Given the description of an element on the screen output the (x, y) to click on. 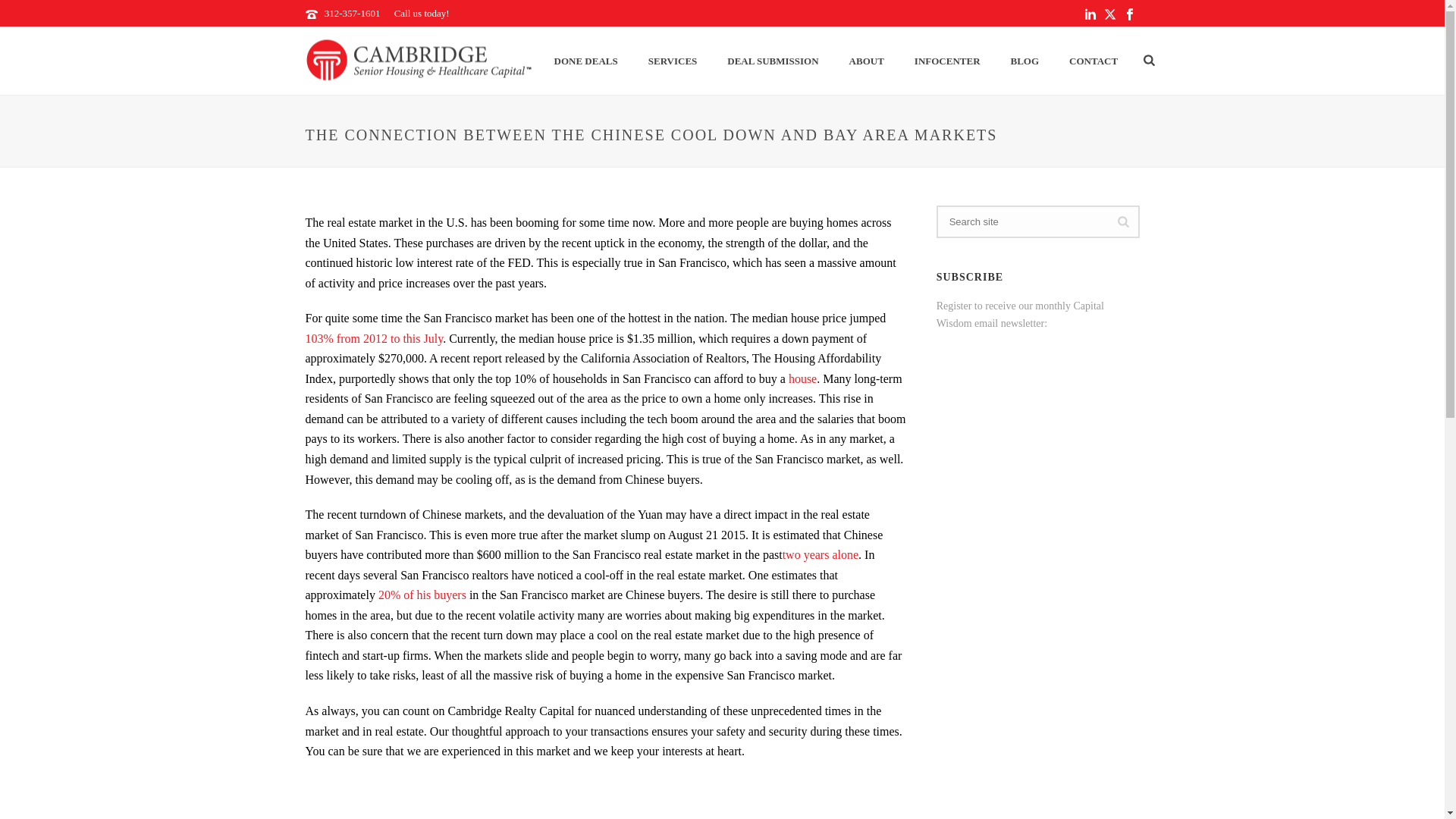
INFOCENTER (947, 61)
DEAL SUBMISSION (771, 61)
DEAL SUBMISSION (771, 61)
BLOG (1024, 61)
ABOUT (866, 61)
DONE DEALS (585, 61)
INFOCENTER (947, 61)
CONTACT (1093, 61)
ABOUT (866, 61)
312-357-1601 (352, 12)
SERVICES (673, 61)
SERVICES (673, 61)
CONTACT (1093, 61)
DONE DEALS (585, 61)
BLOG (1024, 61)
